Given the description of an element on the screen output the (x, y) to click on. 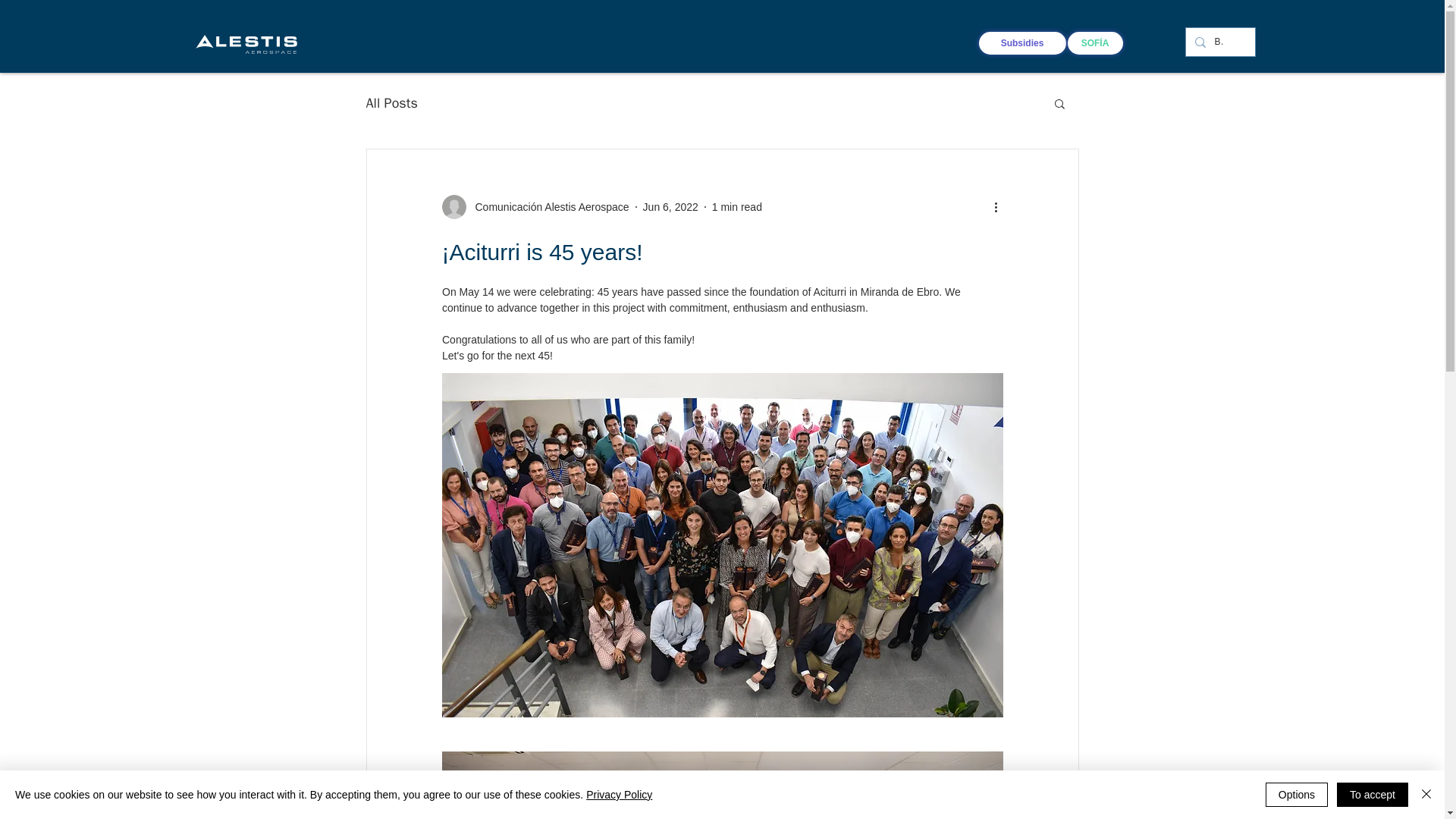
Jun 6, 2022 (670, 205)
1 min read (736, 205)
Subsidies (1021, 42)
All Posts (390, 103)
